Given the description of an element on the screen output the (x, y) to click on. 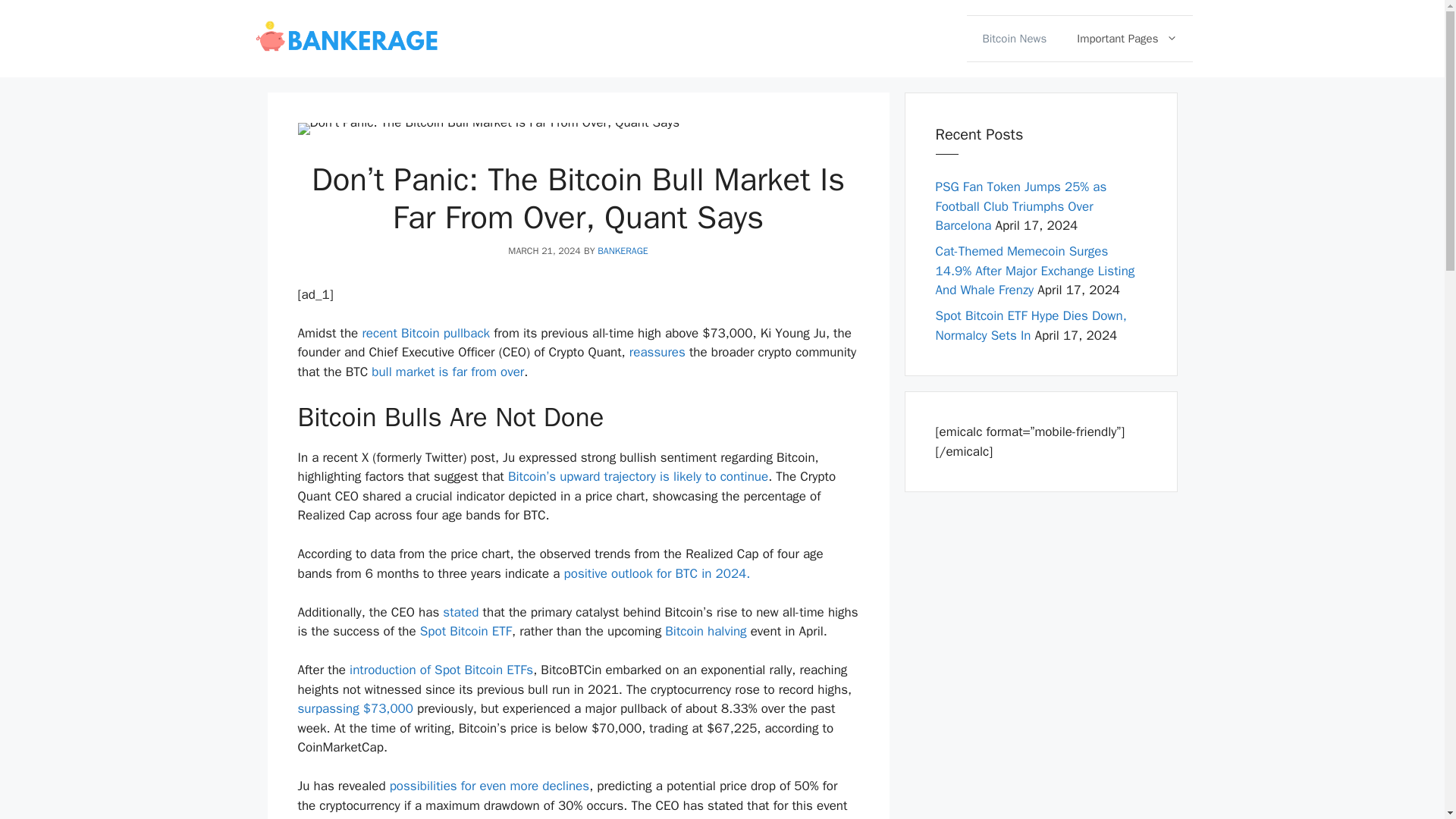
 bull market is far from over (446, 371)
Bitcoin News (1013, 38)
BANKERAGE (621, 250)
Spot Bitcoin ETF (464, 631)
recent Bitcoin pullback (425, 333)
possibilities for even more declines (489, 785)
positive outlook for BTC in 2024.  (659, 573)
View all posts by Bankerage (621, 250)
reassures (656, 351)
Bitcoin halving (705, 631)
